Given the description of an element on the screen output the (x, y) to click on. 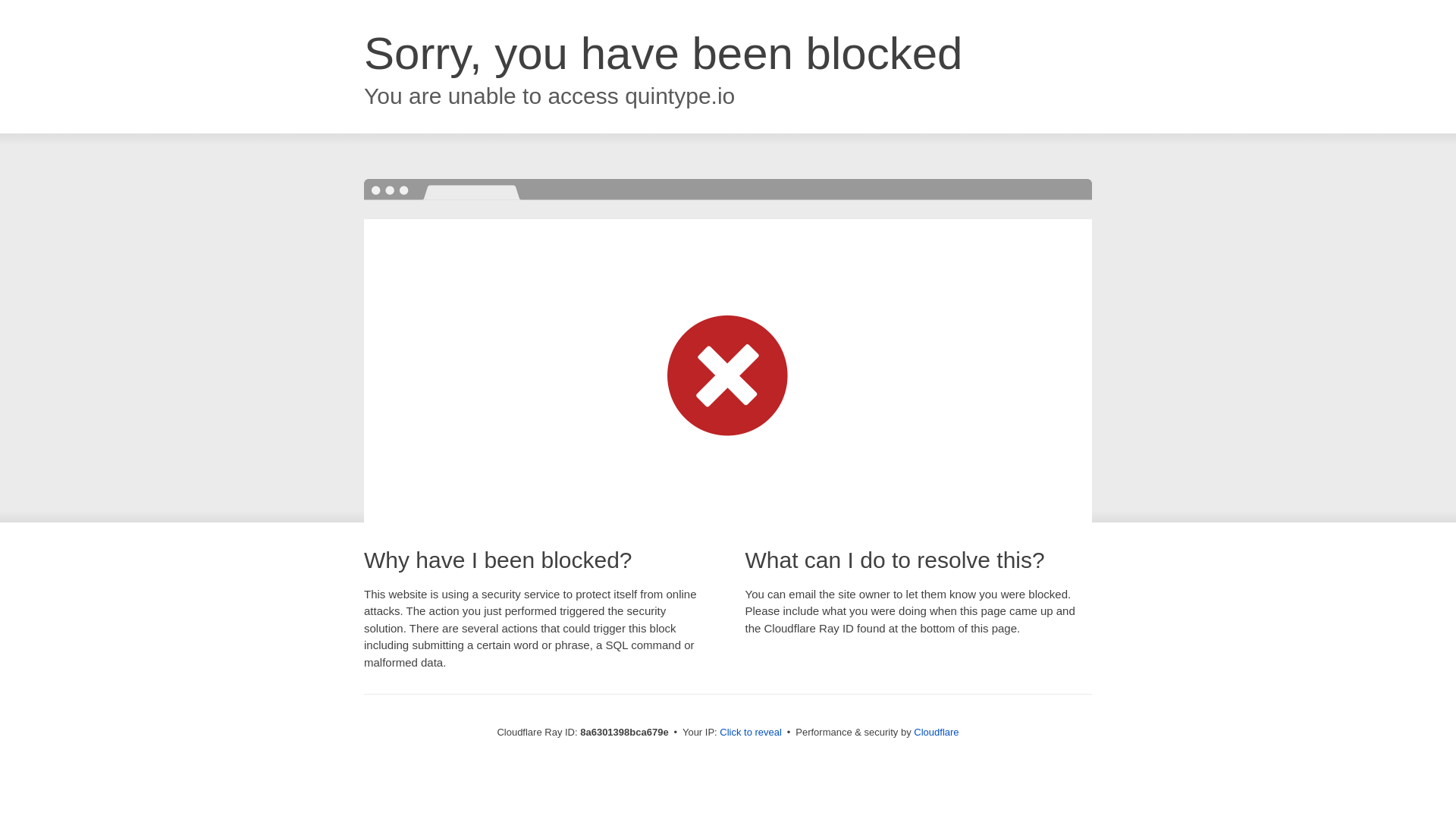
Cloudflare (936, 731)
Click to reveal (750, 732)
